Given the description of an element on the screen output the (x, y) to click on. 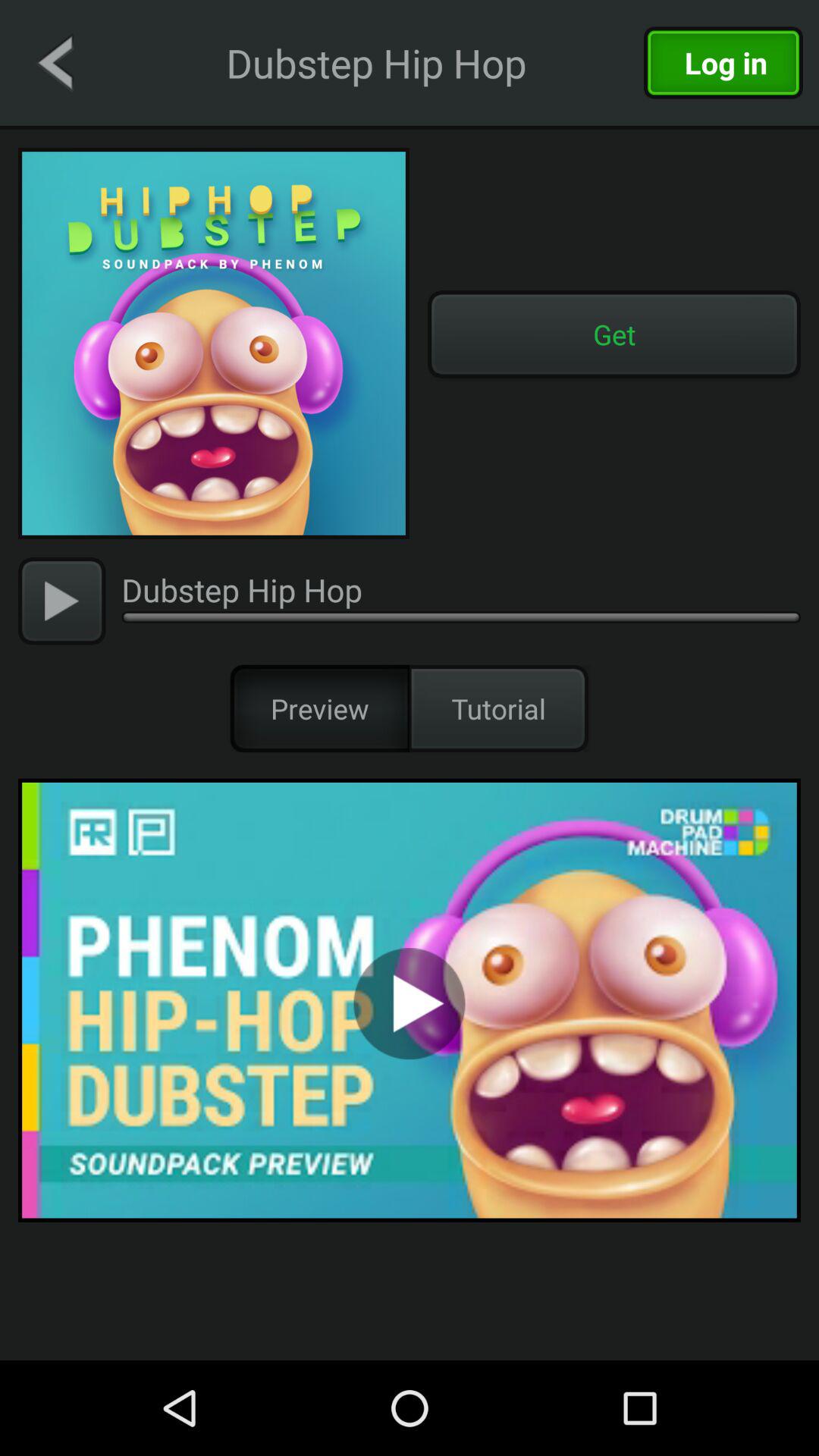
select app next to the dubstep hip hop item (54, 62)
